Given the description of an element on the screen output the (x, y) to click on. 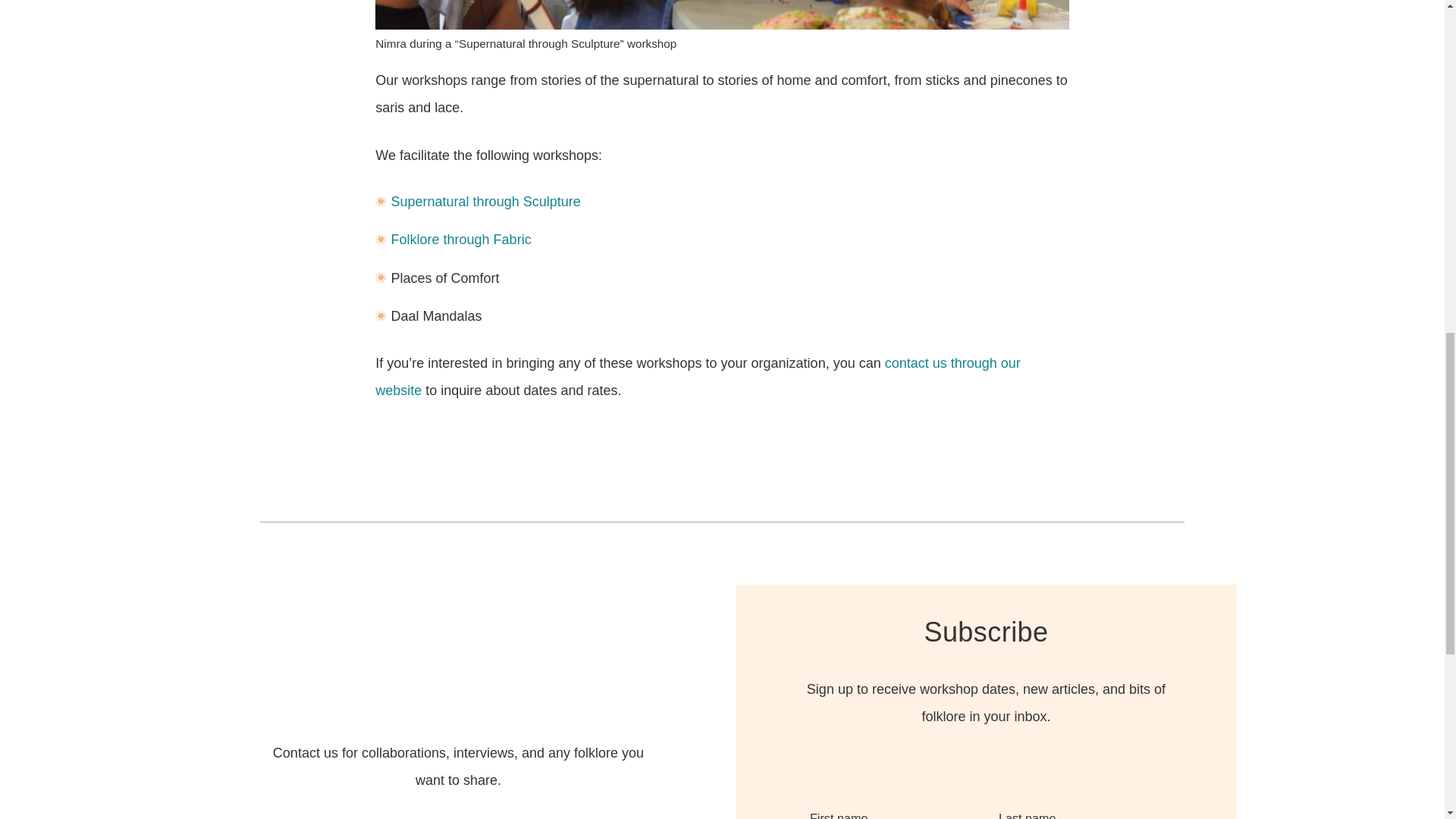
Folklore through Fabric (461, 239)
contact us through our website (697, 376)
Supernatural through Sculpture (485, 201)
